Given the description of an element on the screen output the (x, y) to click on. 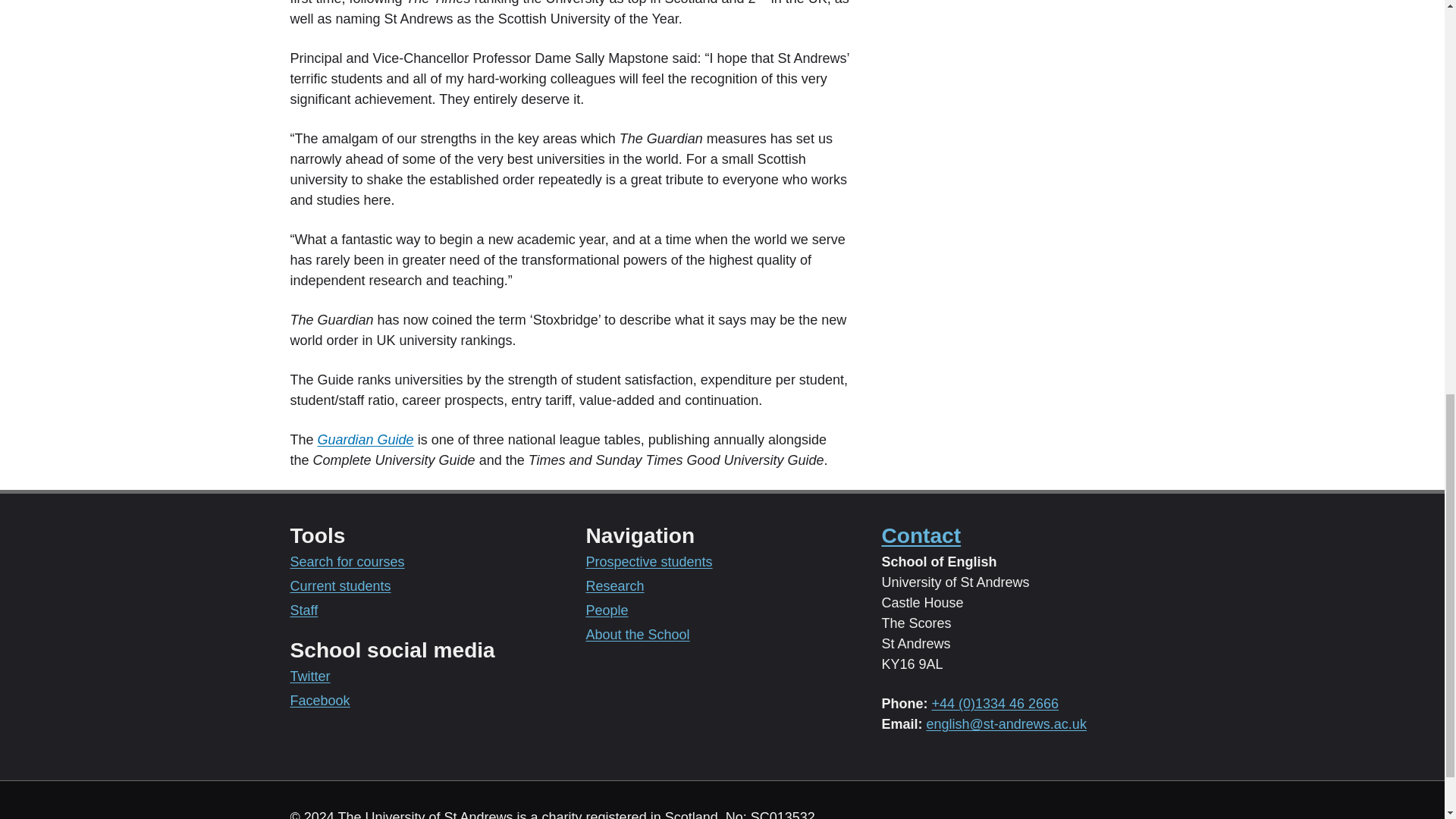
Contact (920, 535)
Twitter (309, 676)
Research (614, 585)
About the School (636, 634)
Facebook (319, 700)
Current students (339, 585)
Guardian Guide (365, 439)
People (606, 610)
Prospective students (648, 561)
Staff (303, 610)
Search for courses (346, 561)
